Given the description of an element on the screen output the (x, y) to click on. 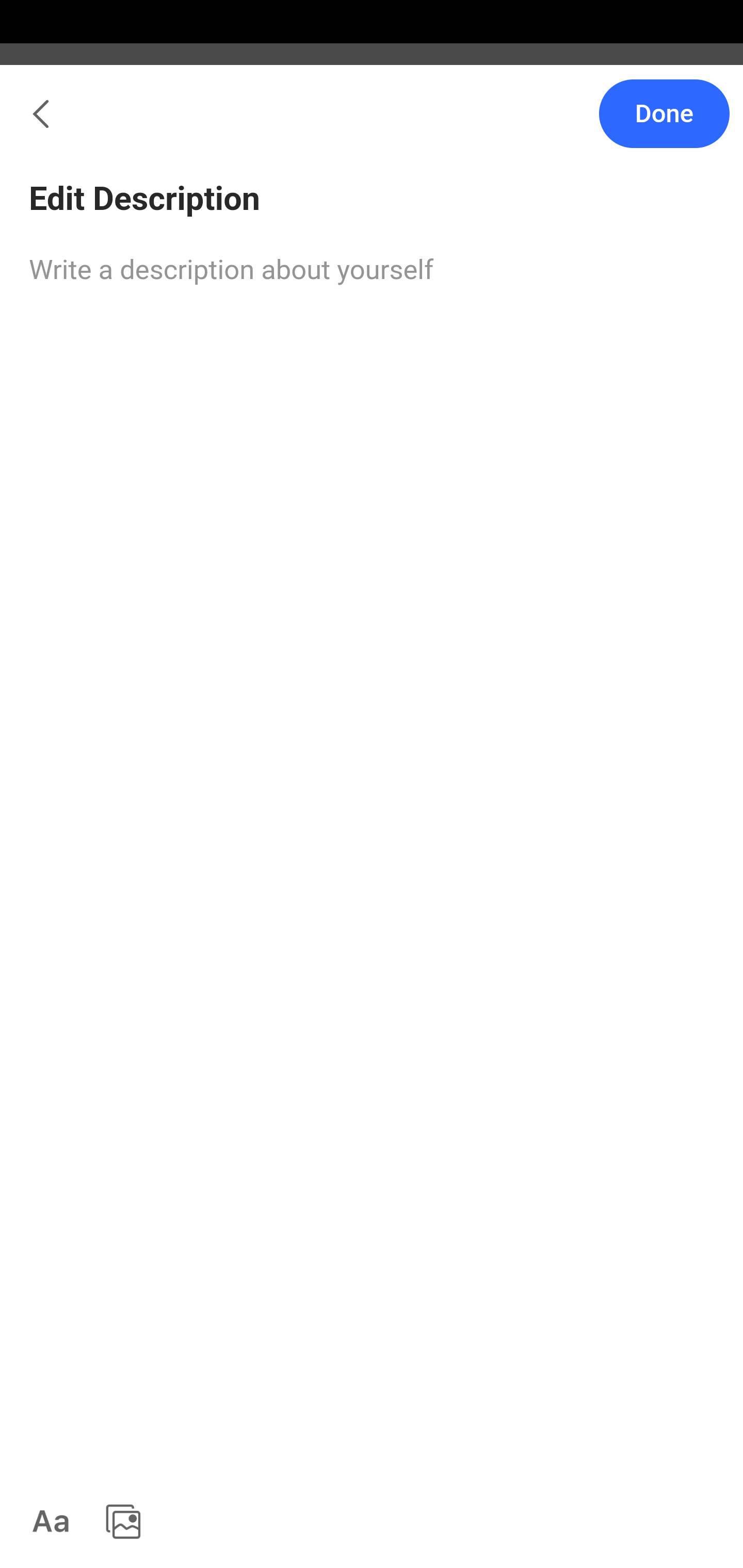
Back Edit Profile (371, 125)
Back (30, 125)
Profile photo for Test Appium Edit photo (371, 209)
Edit name Test Appium (371, 304)
Edit profile credential (371, 395)
Edit bio (371, 476)
